Given the description of an element on the screen output the (x, y) to click on. 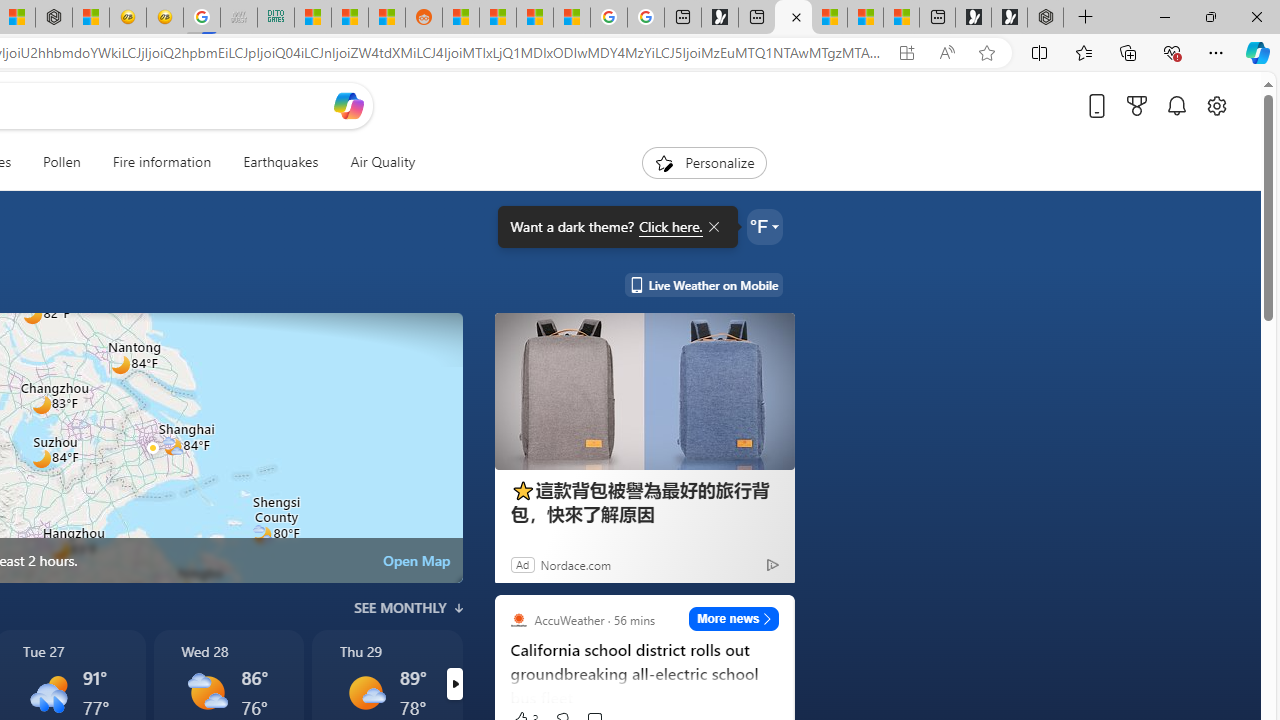
DITOGAMES AG Imprint (276, 17)
Personalize (703, 162)
Air Quality (382, 162)
Weather settings Want a dark theme?Click here. (764, 226)
Open Map (416, 560)
